Given the description of an element on the screen output the (x, y) to click on. 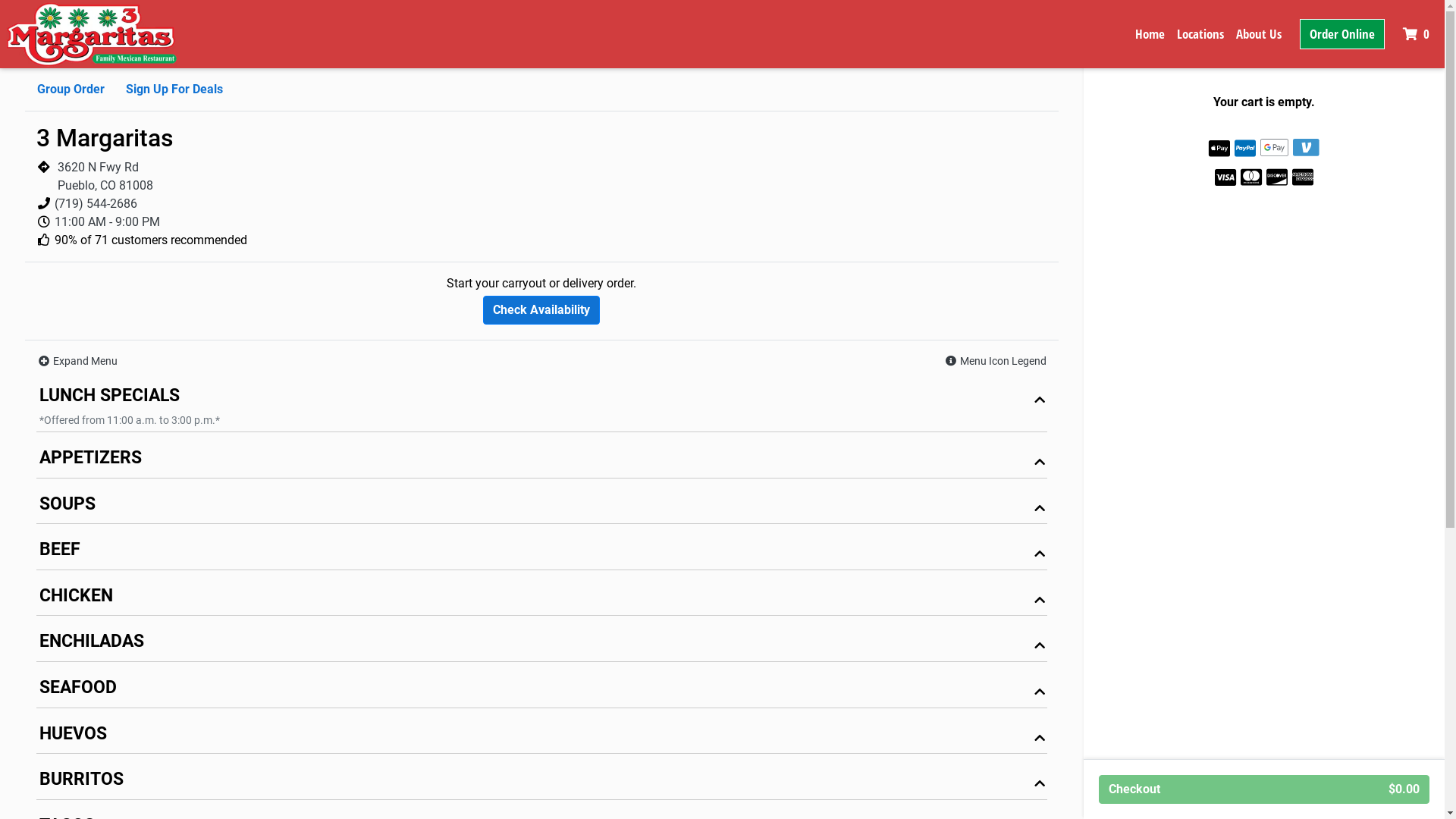
Order Online Element type: text (1341, 33)
Group Order Element type: text (70, 89)
Accepts Venmo Element type: hover (1305, 147)
Home Element type: text (1149, 34)
HUEVOS Element type: text (541, 737)
BURRITOS Element type: text (541, 782)
Check Availability Element type: text (541, 309)
11:00 AM - 9:00 PM Element type: text (107, 221)
Accepts Discover Element type: hover (1276, 175)
APPETIZERS Element type: text (541, 461)
Expand Menu Element type: text (77, 361)
SOUPS Element type: text (541, 507)
SEAFOOD Element type: text (541, 691)
Sign Up For Deals Element type: text (173, 89)
ENCHILADAS Element type: text (541, 644)
0
 Items In Cart Element type: text (1417, 34)
Accepts Google Pay Element type: hover (1274, 147)
Locations Element type: text (1200, 34)
Checkout
$0.00 Element type: text (1263, 789)
Accepts Mastercard Element type: hover (1250, 175)
(719) 544-2686 Element type: text (95, 203)
Accepts Apple Pay Element type: hover (1219, 147)
3620 N Fwy Rd
Pueblo, CO 81008 Element type: text (105, 176)
LUNCH SPECIALS
*Offered from 11:00 a.m. to 3:00 p.m.* Element type: text (541, 407)
Accepts PayPal Element type: hover (1244, 147)
Menu Icon Legend Element type: text (995, 361)
Accepts Visa Element type: hover (1225, 175)
CHICKEN Element type: text (541, 599)
Accepts American Express Element type: hover (1302, 175)
BEEF Element type: text (541, 553)
About Us Element type: text (1258, 34)
